Given the description of an element on the screen output the (x, y) to click on. 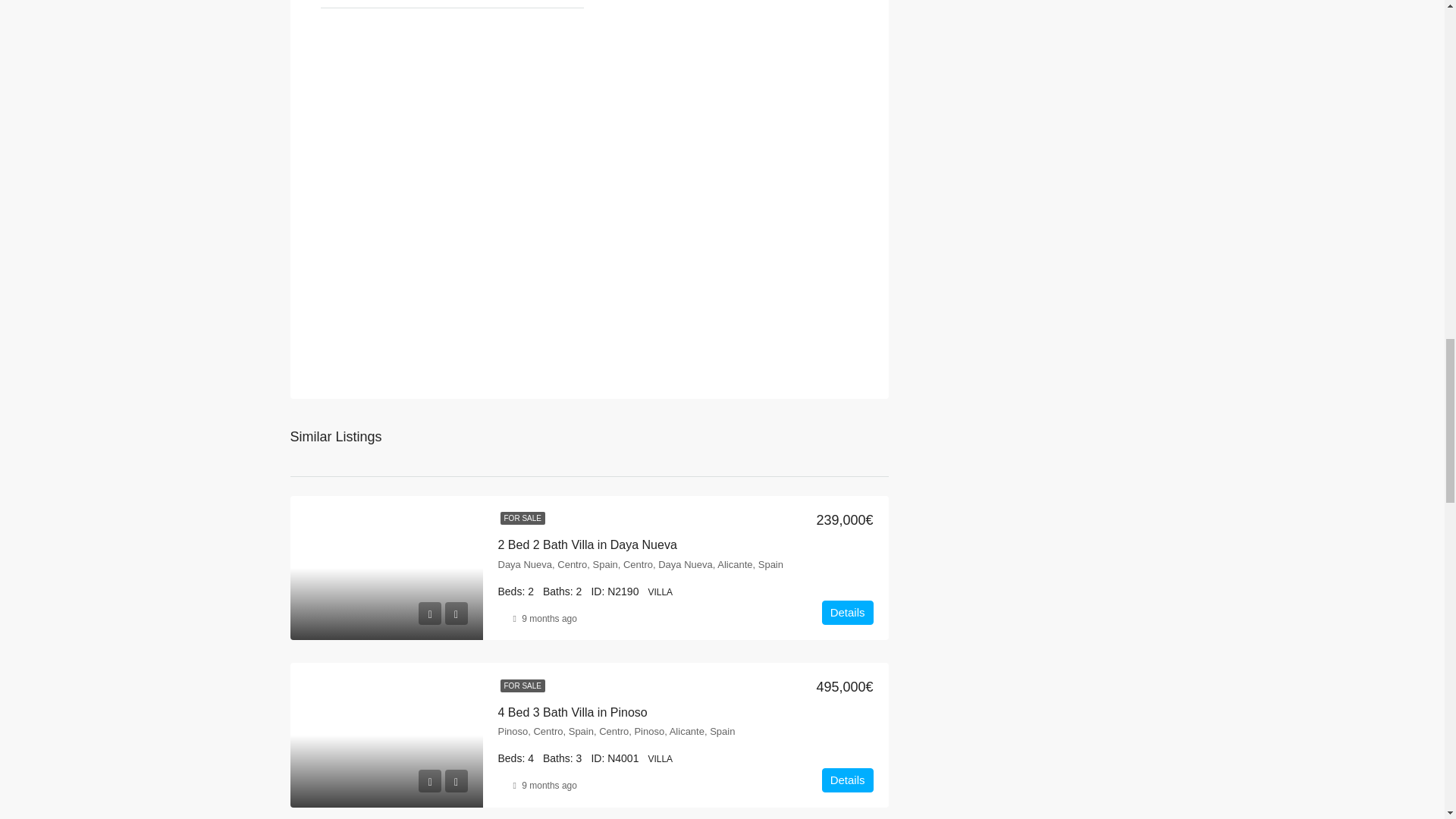
Favourite (455, 612)
Favourite (455, 780)
Preview (430, 612)
Preview (430, 780)
